Given the description of an element on the screen output the (x, y) to click on. 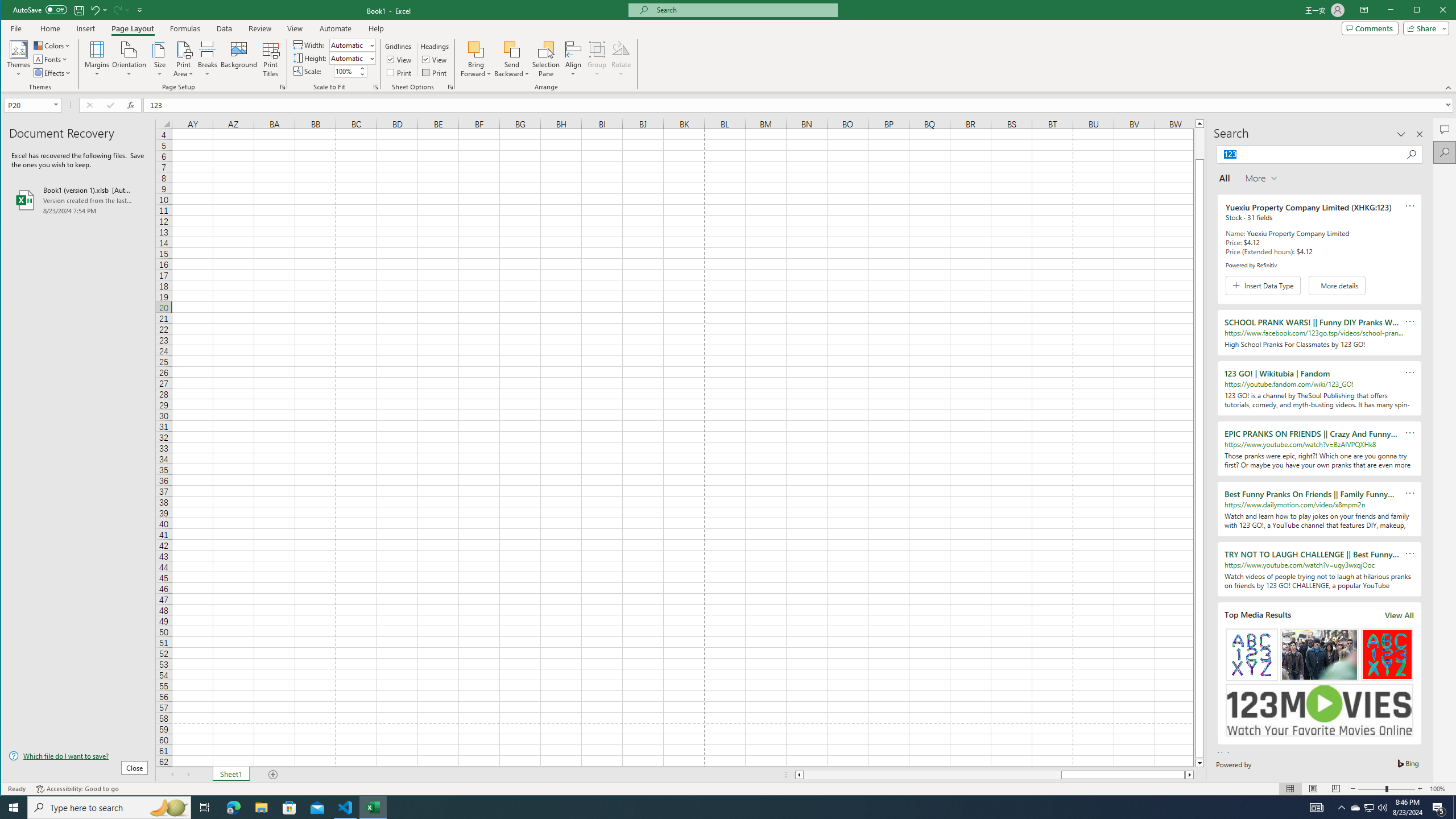
Bring Forward (476, 59)
Height (1368, 807)
Background... (352, 57)
Scale (239, 59)
